Given the description of an element on the screen output the (x, y) to click on. 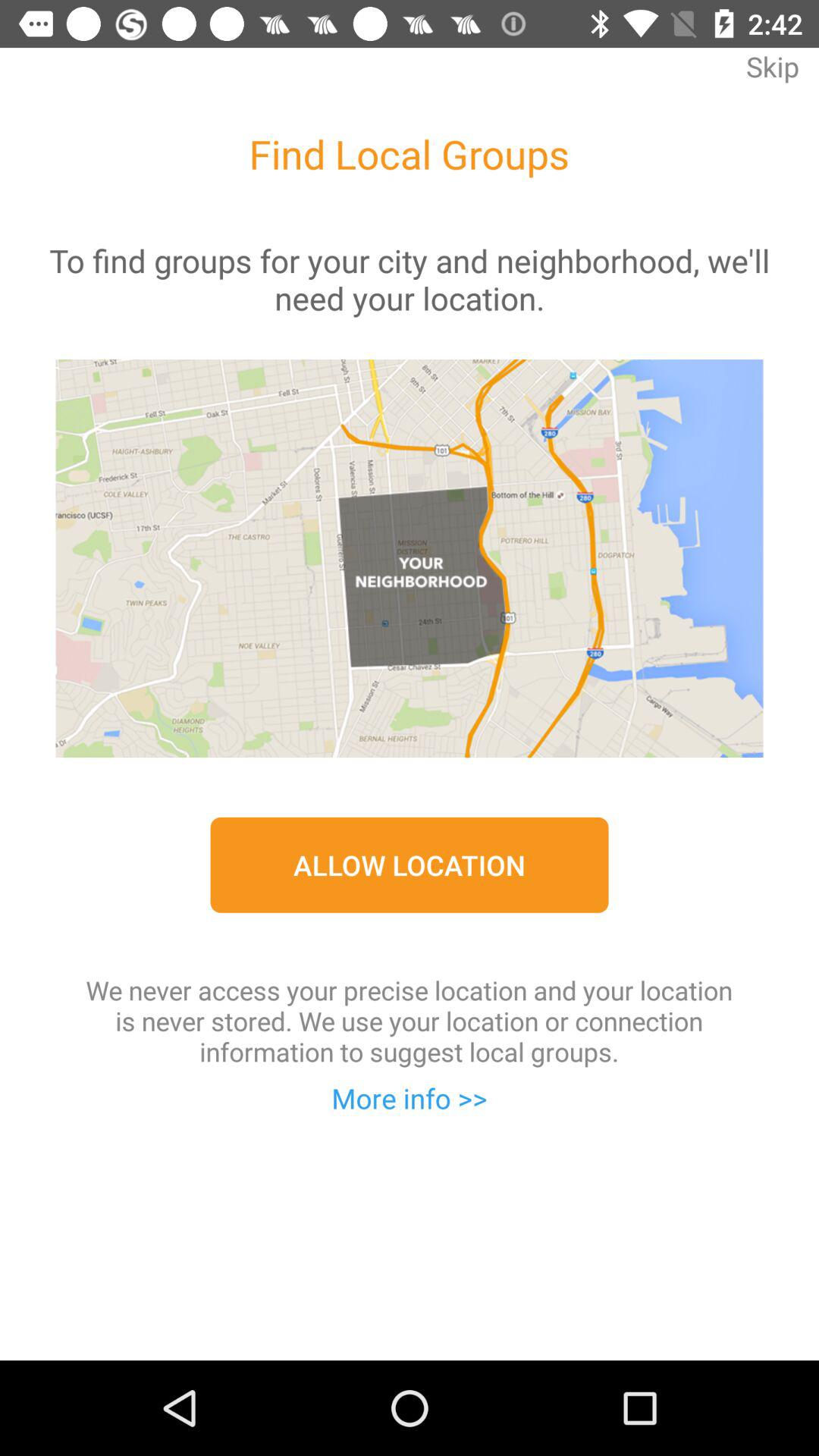
flip to the allow location item (409, 864)
